Given the description of an element on the screen output the (x, y) to click on. 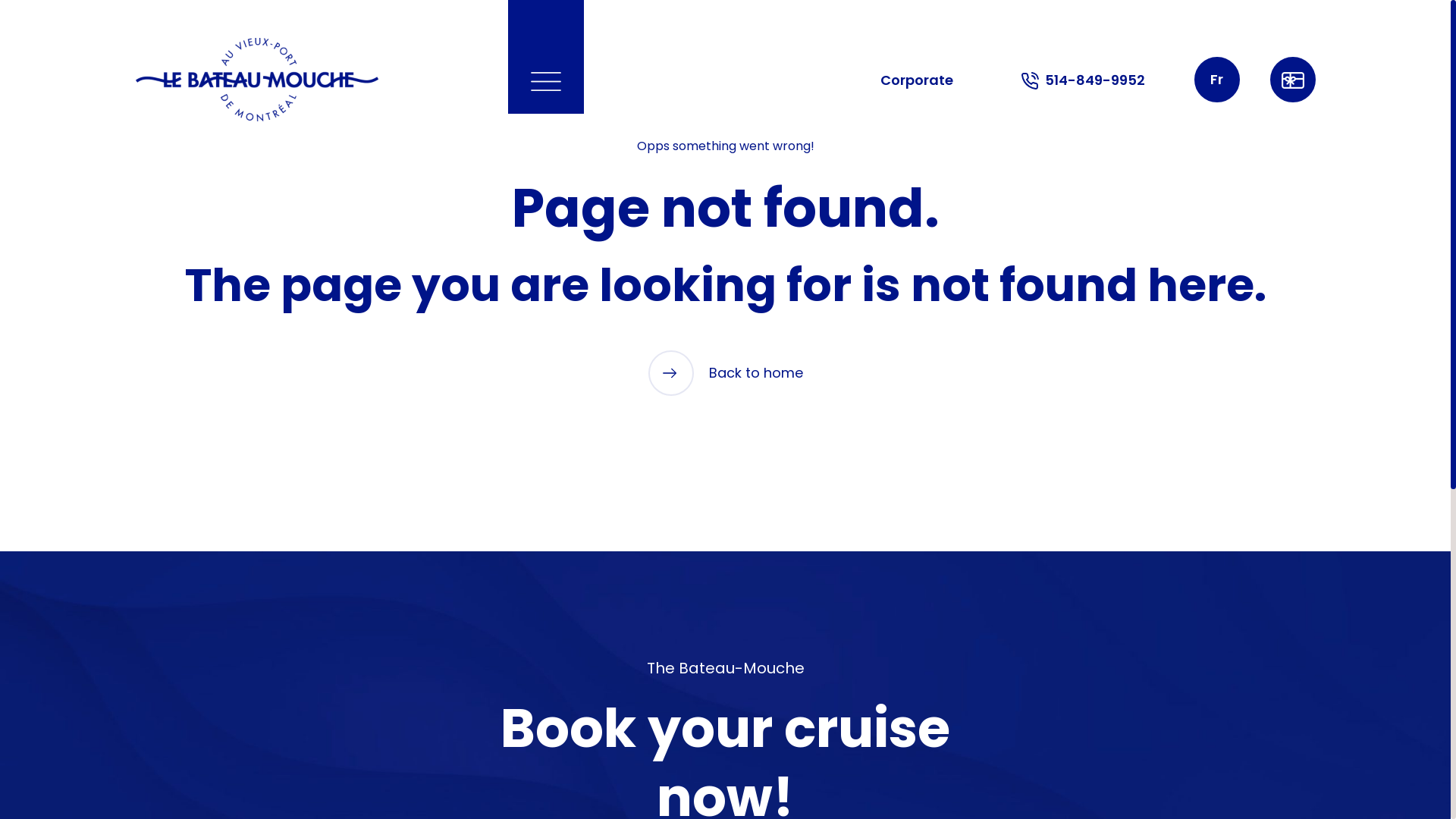
514-849-9952 Element type: text (1083, 79)
Back to home Element type: text (724, 372)
Corporate Element type: text (916, 79)
Fr Element type: text (1216, 79)
